Given the description of an element on the screen output the (x, y) to click on. 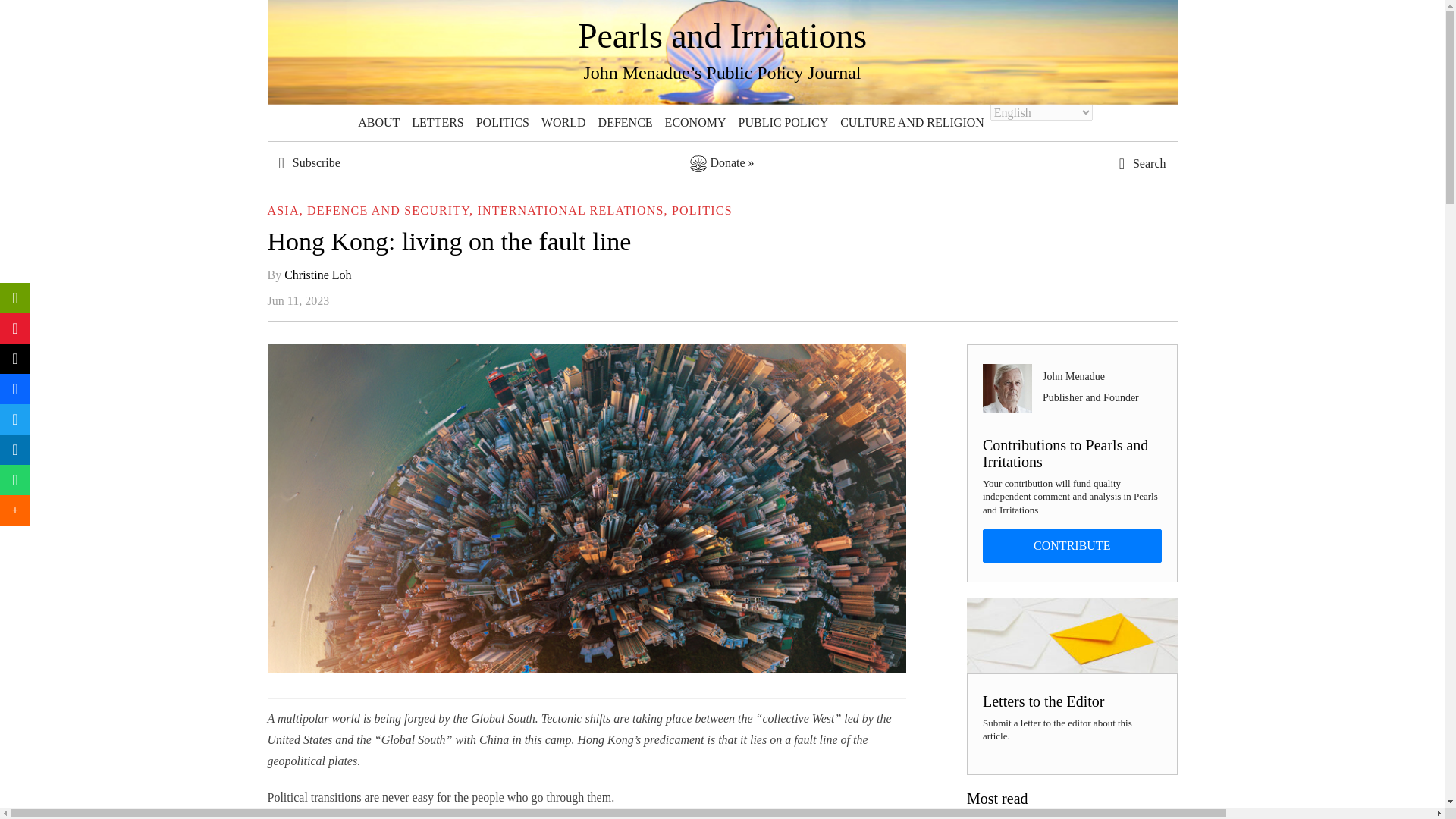
Politics (502, 122)
ECONOMY (695, 122)
Search (1106, 440)
WORLD (563, 122)
ABOUT (379, 122)
World (563, 122)
POLITICS (502, 122)
Letters (437, 122)
LETTERS (437, 122)
PUBLIC POLICY (783, 122)
DEFENCE (625, 122)
Defence (625, 122)
About (379, 122)
